Given the description of an element on the screen output the (x, y) to click on. 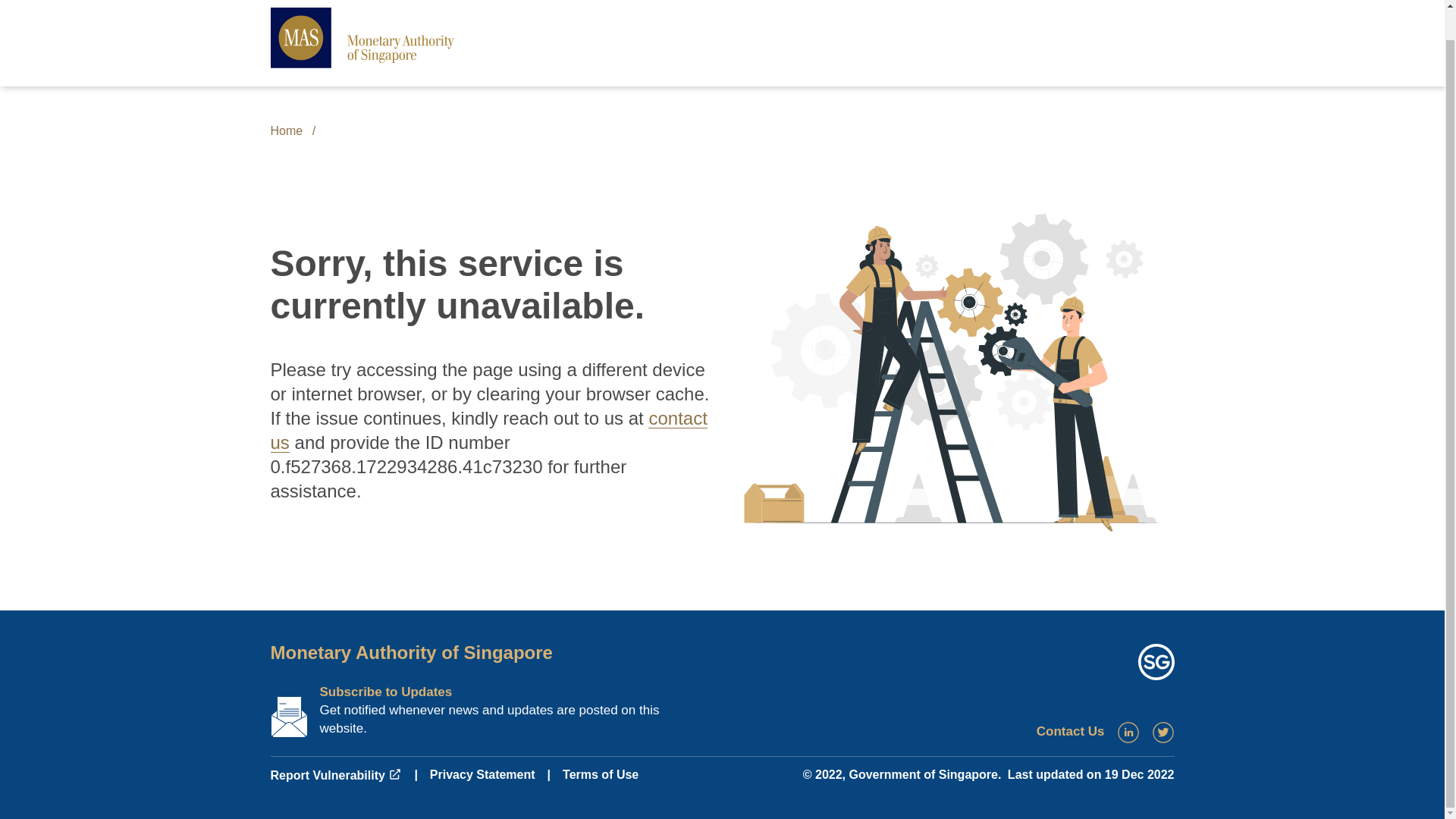
Home (285, 130)
Contact Us (1070, 730)
Privacy Statement (482, 774)
Monetary Authority of Singapore (410, 652)
contact us (487, 429)
Report Vulnerability (335, 775)
Terms of Use (600, 774)
